Given the description of an element on the screen output the (x, y) to click on. 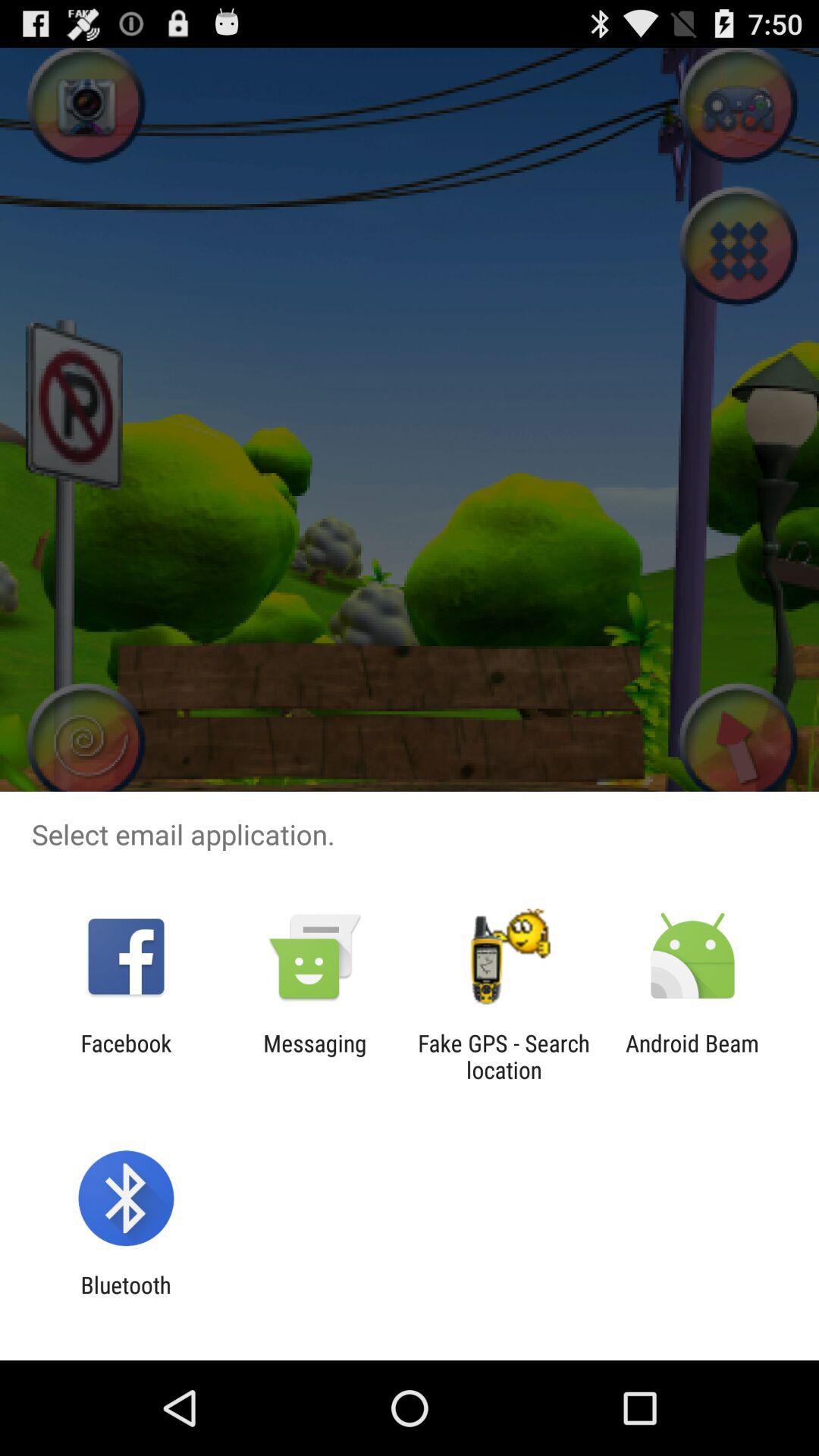
click icon next to facebook (314, 1056)
